Given the description of an element on the screen output the (x, y) to click on. 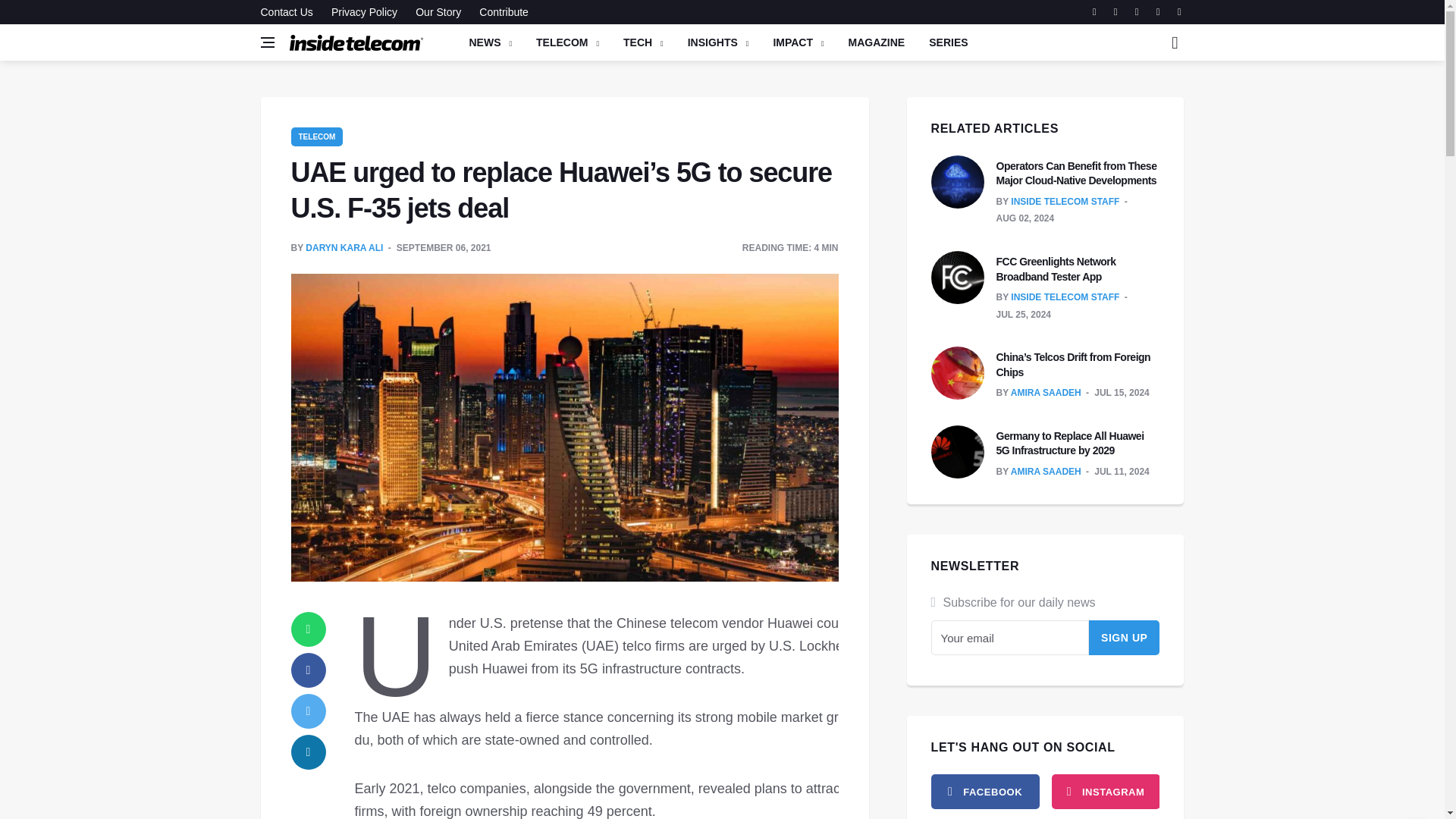
facebook (308, 669)
twitter (308, 710)
Privacy Policy (363, 12)
Contact Us (290, 12)
Contribute (499, 12)
linkedin (308, 751)
whatsapp (308, 629)
instagram (1104, 791)
facebook (985, 791)
Our Story (437, 12)
Sign Up (1124, 637)
